Given the description of an element on the screen output the (x, y) to click on. 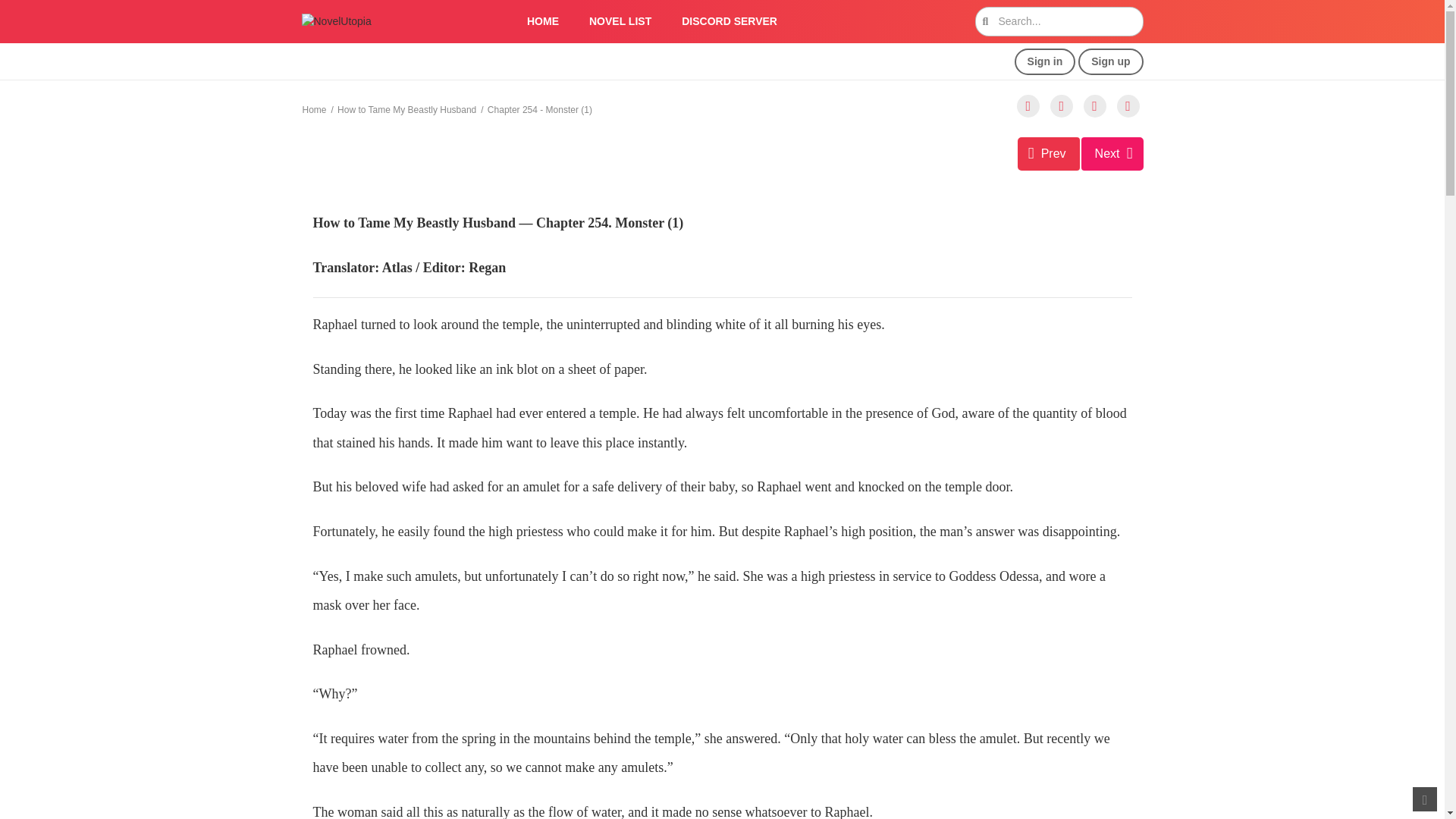
Bookmark (1094, 106)
NovelUtopia (336, 21)
HOME (542, 21)
NOVEL LIST (619, 21)
Chapter 253 (1048, 153)
Chapter 255 (1111, 153)
Home (313, 109)
Search (970, 9)
Prev (1048, 153)
Sign up (1110, 61)
